Given the description of an element on the screen output the (x, y) to click on. 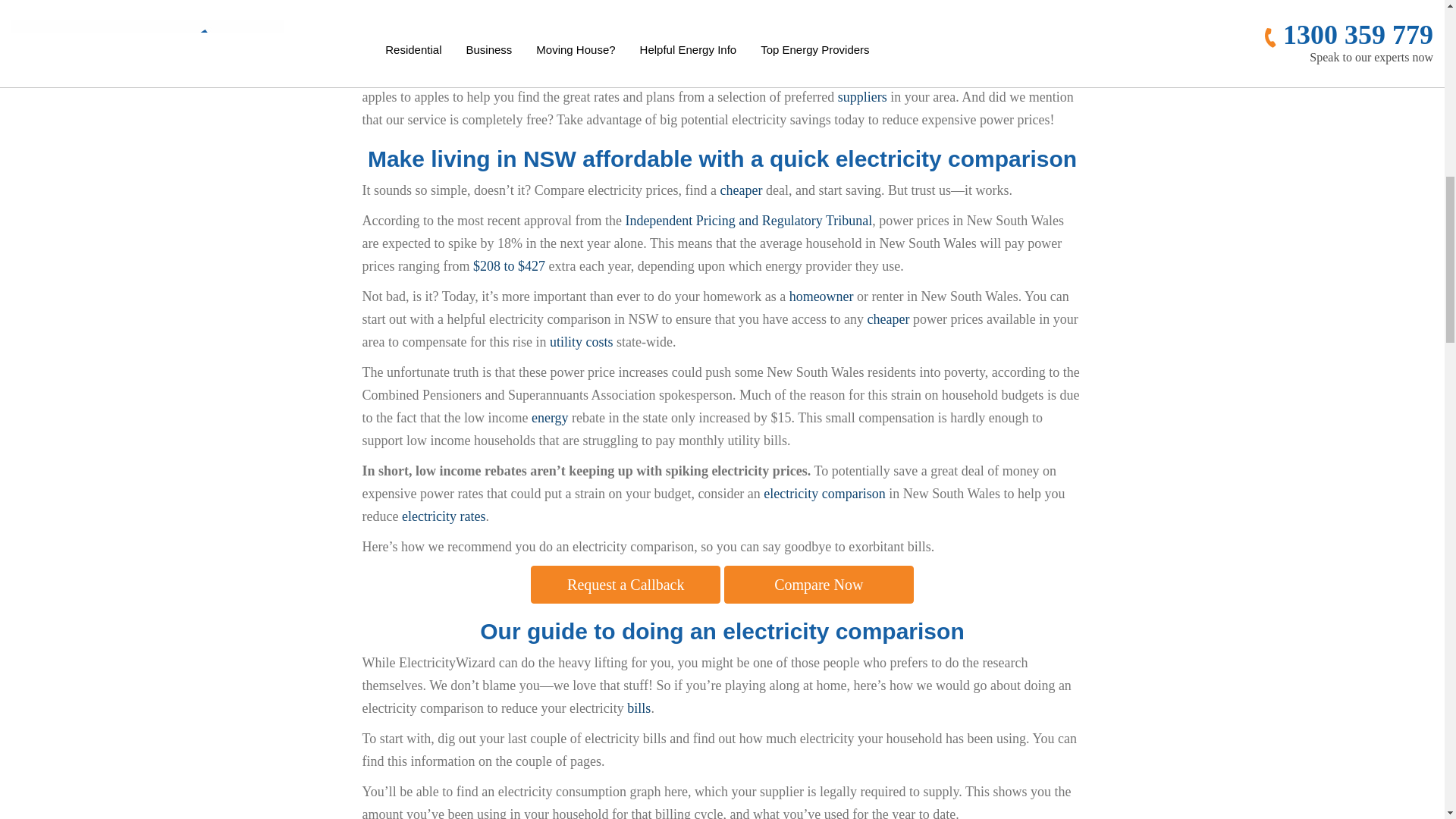
Electricity comparison (823, 493)
Electricity rates (442, 516)
suppliers (862, 96)
How to get cheaper electricity (887, 319)
Compare electricity (591, 73)
ElectricityWizard (414, 73)
Energy (550, 417)
utility costs (581, 341)
Residential (821, 296)
How to get cheaper electricity (741, 190)
